Given the description of an element on the screen output the (x, y) to click on. 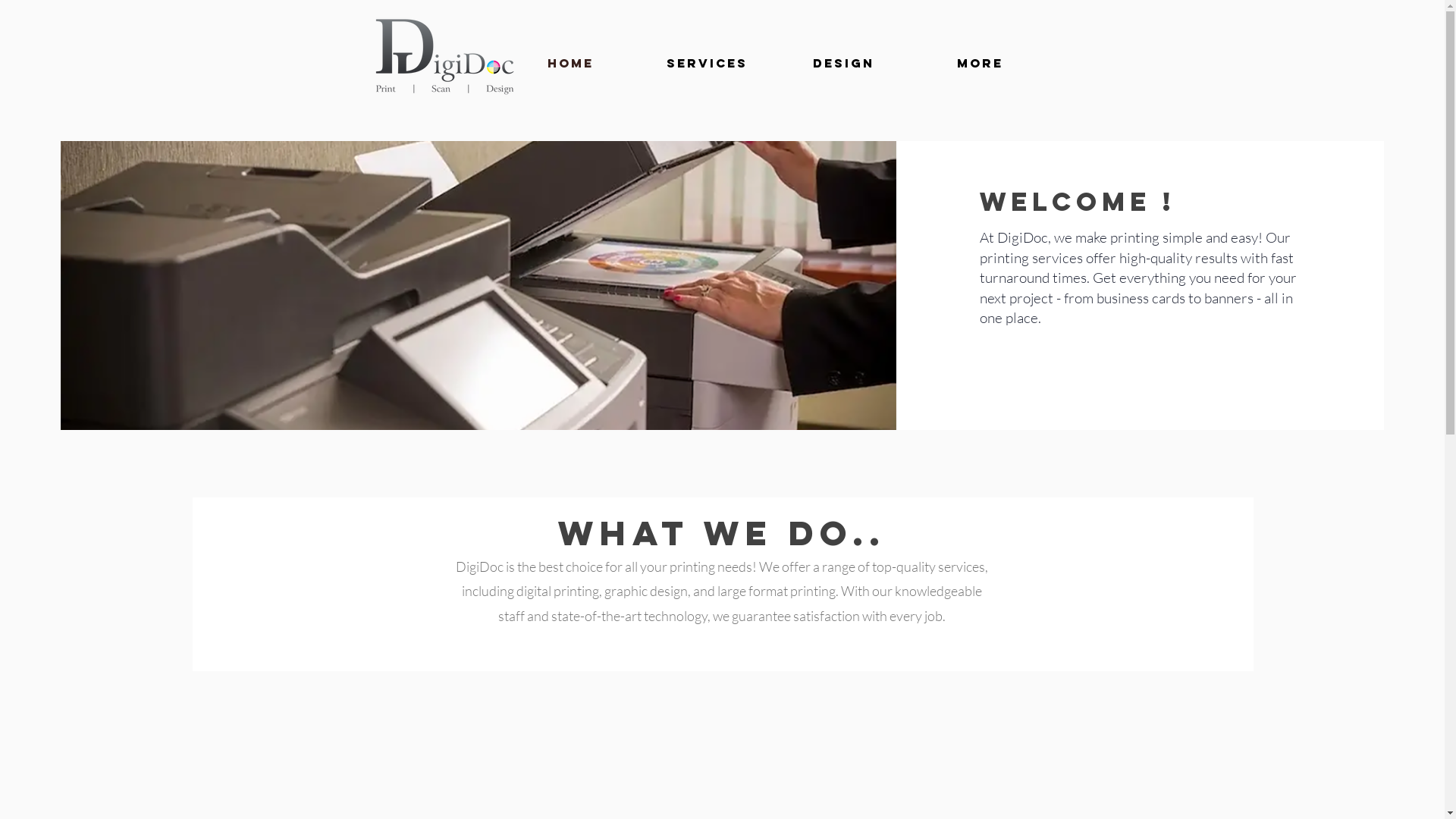
Home Element type: text (570, 62)
Digidoc logo final logo.png Element type: hover (443, 57)
Design Element type: text (843, 62)
Services Element type: text (706, 62)
